Given the description of an element on the screen output the (x, y) to click on. 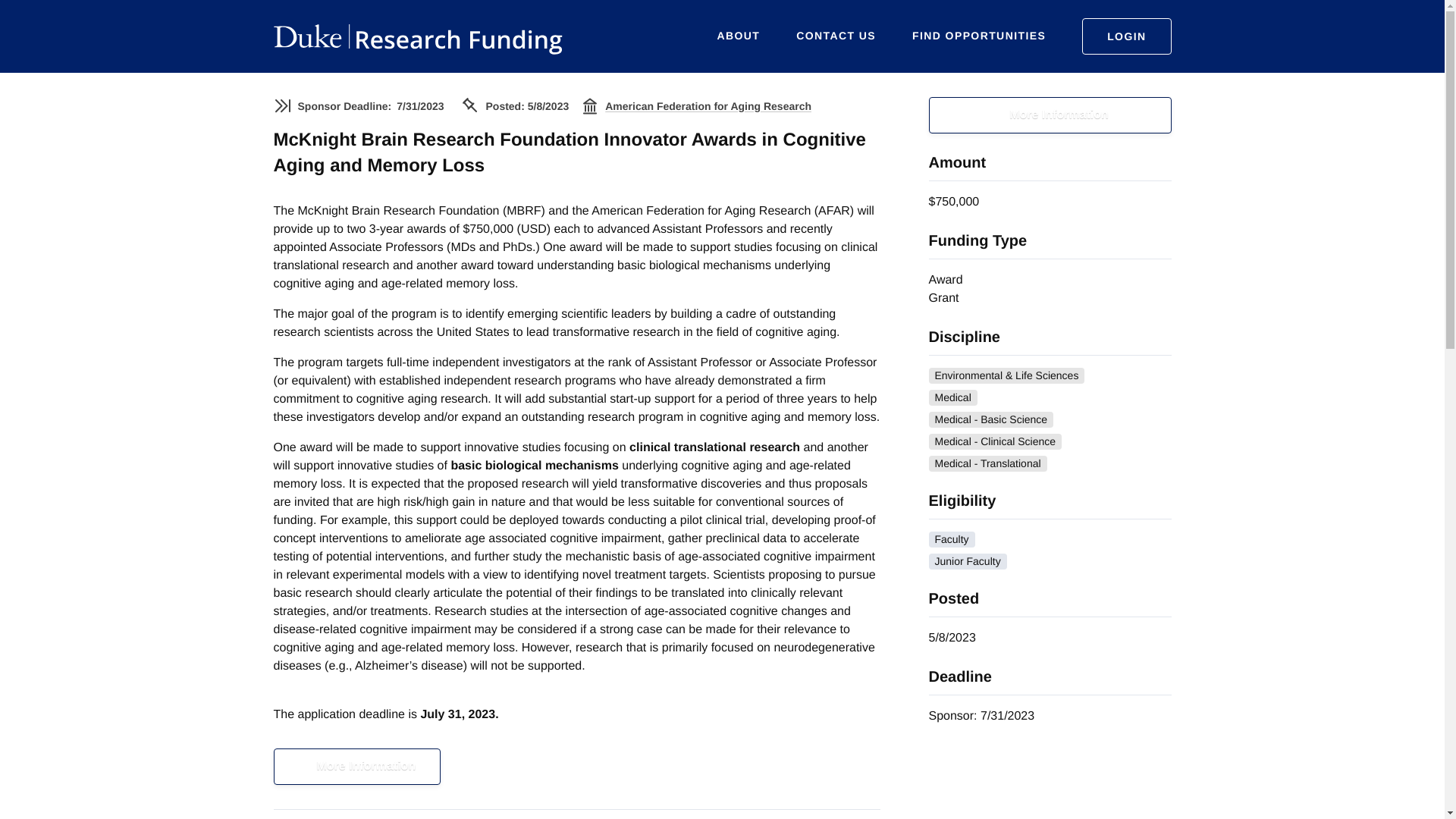
CONTACT US (836, 35)
Award (945, 279)
Grant (943, 297)
Junior Faculty (967, 561)
More Information (357, 766)
Medical - Translational (987, 463)
American Federation for Aging Research (707, 106)
Faculty (951, 539)
More Information (1049, 115)
LOGIN (1125, 36)
FIND OPPORTUNITIES (978, 35)
ABOUT (738, 35)
Medical - Basic Science (990, 419)
Medical - Clinical Science (994, 441)
